Given the description of an element on the screen output the (x, y) to click on. 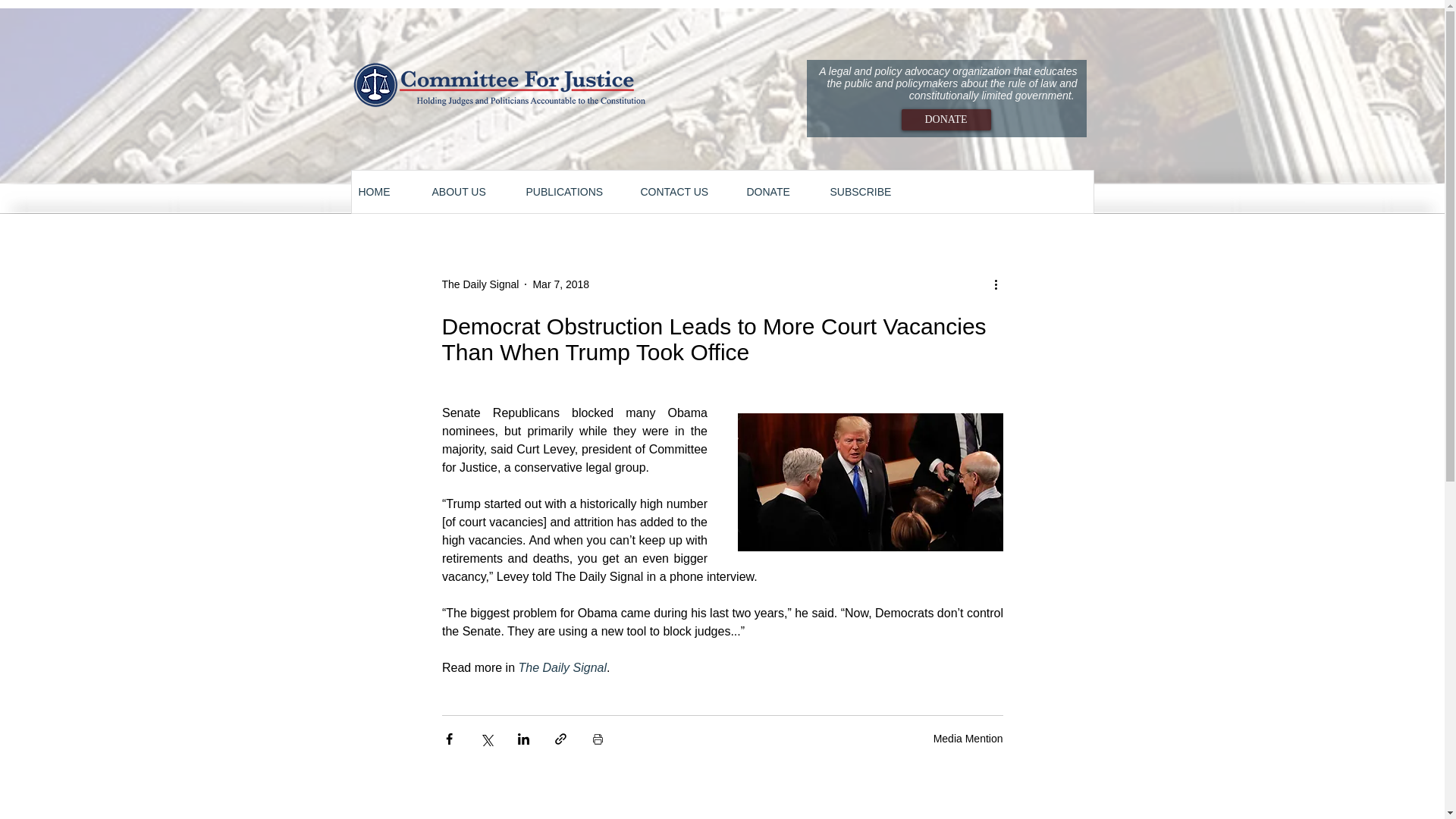
The Daily Signal (479, 283)
SUBSCRIBE (870, 191)
Media Mention (968, 738)
DONATE (780, 191)
HOME (386, 191)
The Daily Signal (562, 667)
Mar 7, 2018 (560, 283)
DONATE (945, 119)
